Given the description of an element on the screen output the (x, y) to click on. 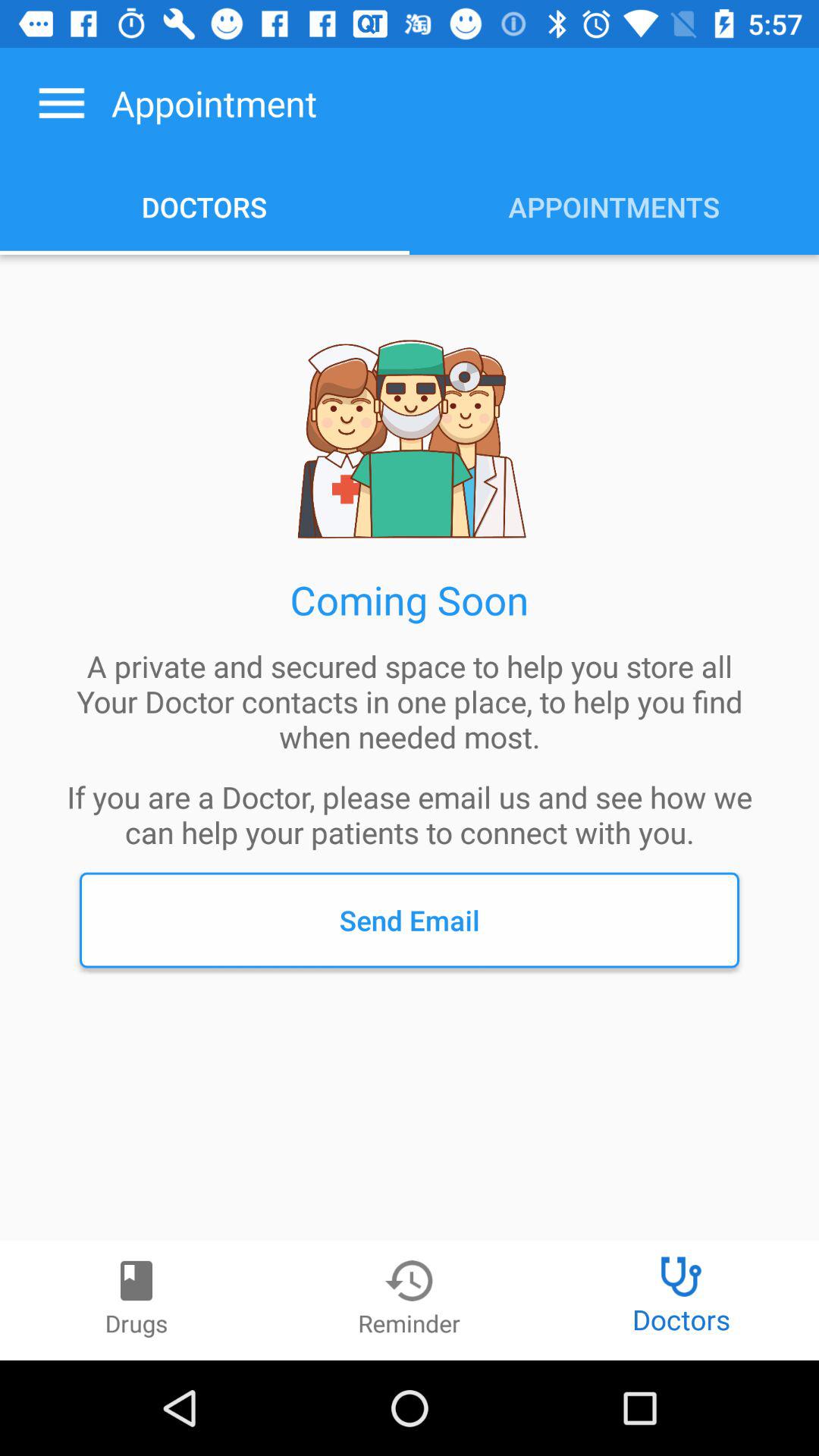
launch item above the a private and (61, 103)
